Given the description of an element on the screen output the (x, y) to click on. 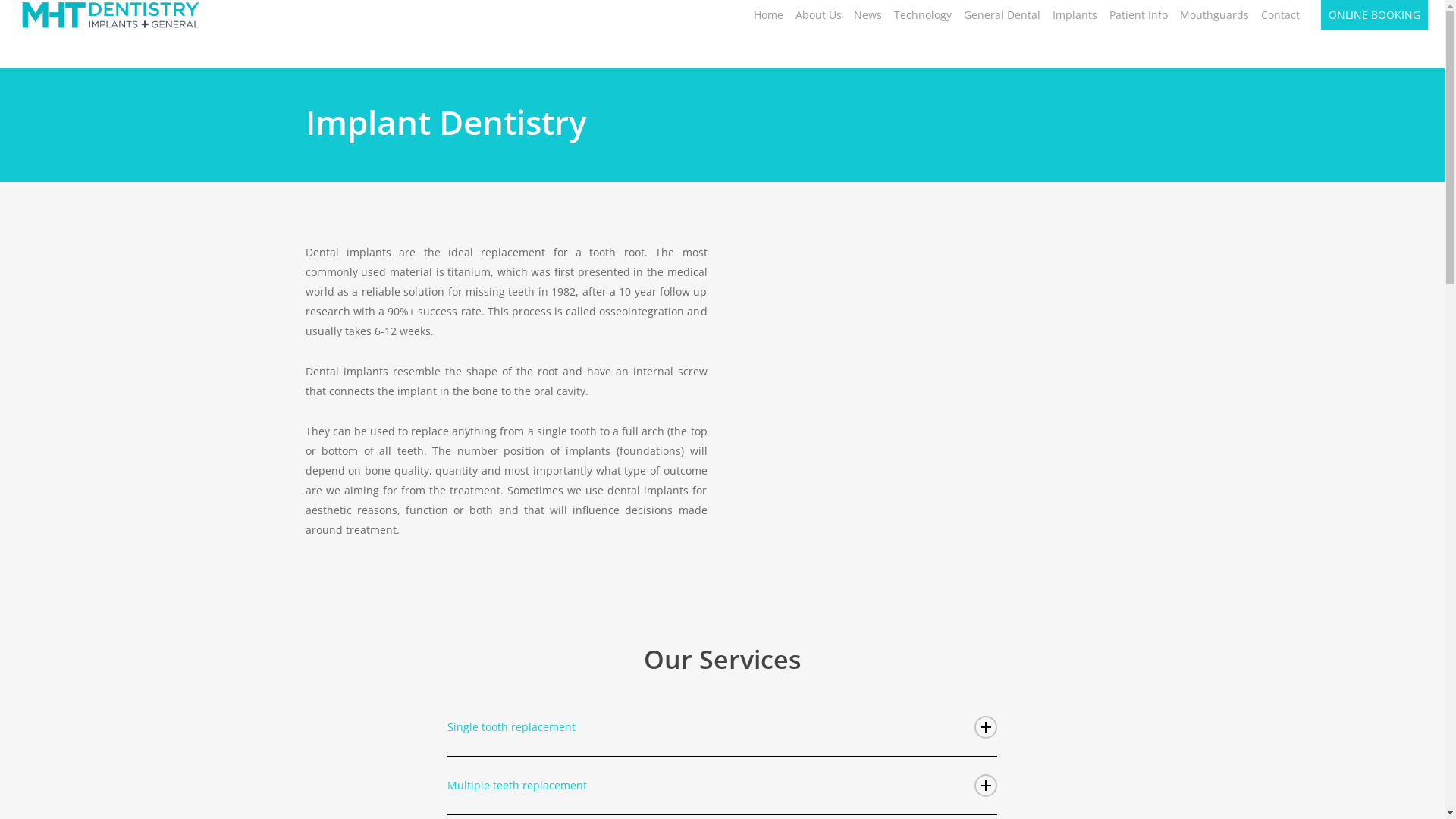
Patient Info Element type: text (1138, 14)
Single tooth replacement Element type: text (722, 727)
News Element type: text (867, 14)
Multiple teeth replacement Element type: text (722, 785)
Home Element type: text (768, 14)
Implants Element type: text (1074, 14)
Contact Element type: text (1280, 14)
Technology Element type: text (922, 14)
About Us Element type: text (818, 14)
ONLINE BOOKING Element type: text (1374, 15)
General Dental Element type: text (1001, 14)
Mouthguards Element type: text (1214, 14)
